Given the description of an element on the screen output the (x, y) to click on. 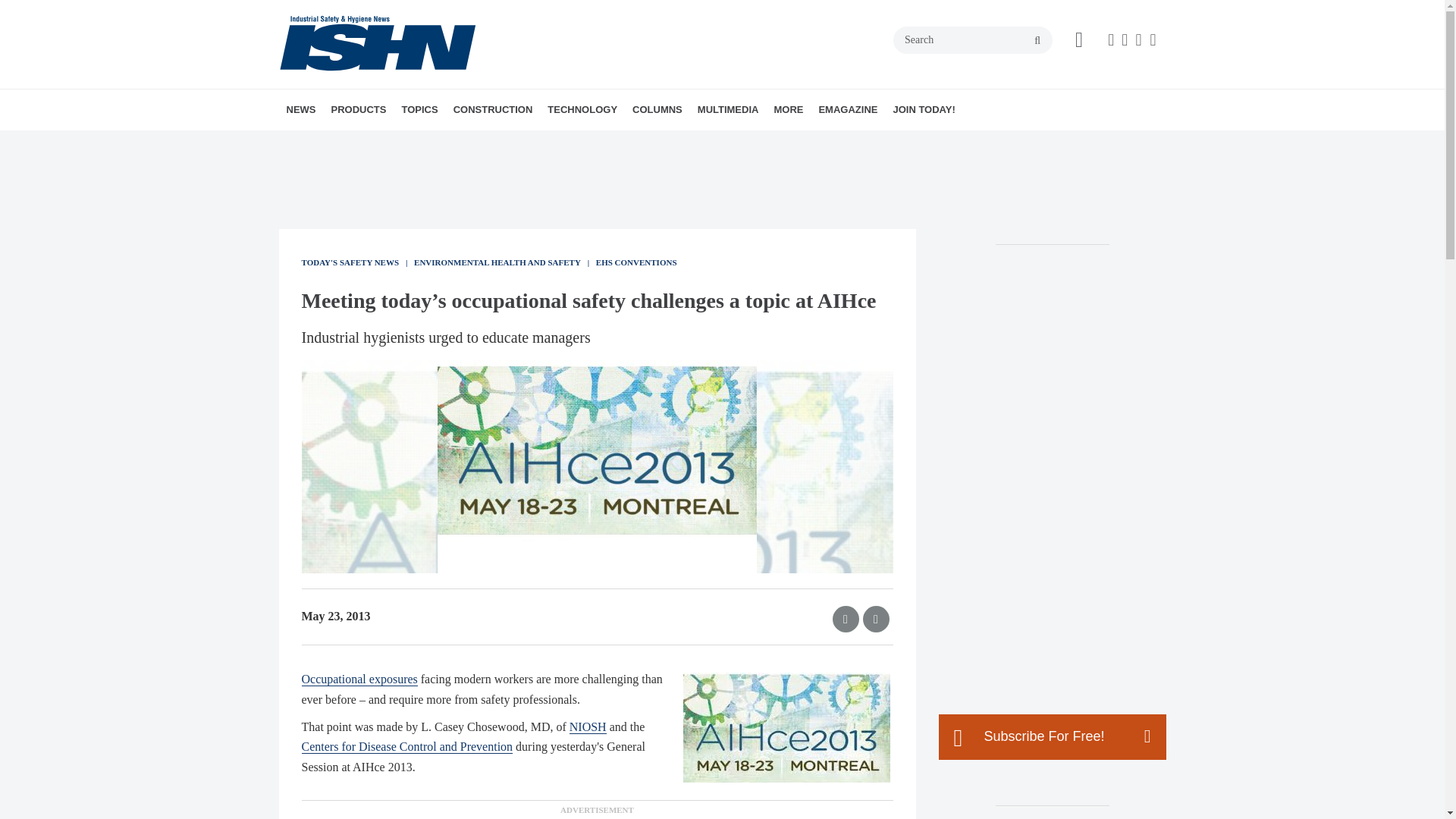
GOVERNMENT REGULATIONS (504, 142)
FEATURED PRODUCTS (424, 142)
PRODUCTS (358, 109)
TODAY'S NEWS (373, 142)
ISHN PODCAST (784, 142)
WORKPLACE HEALTH (510, 142)
LEADING SAFETY (740, 142)
TOPICS (419, 109)
DAVE JOHNSON'S WIDE WORLD OF SAFETY PODCAST (791, 151)
CONSTRUCTION (492, 109)
